Given the description of an element on the screen output the (x, y) to click on. 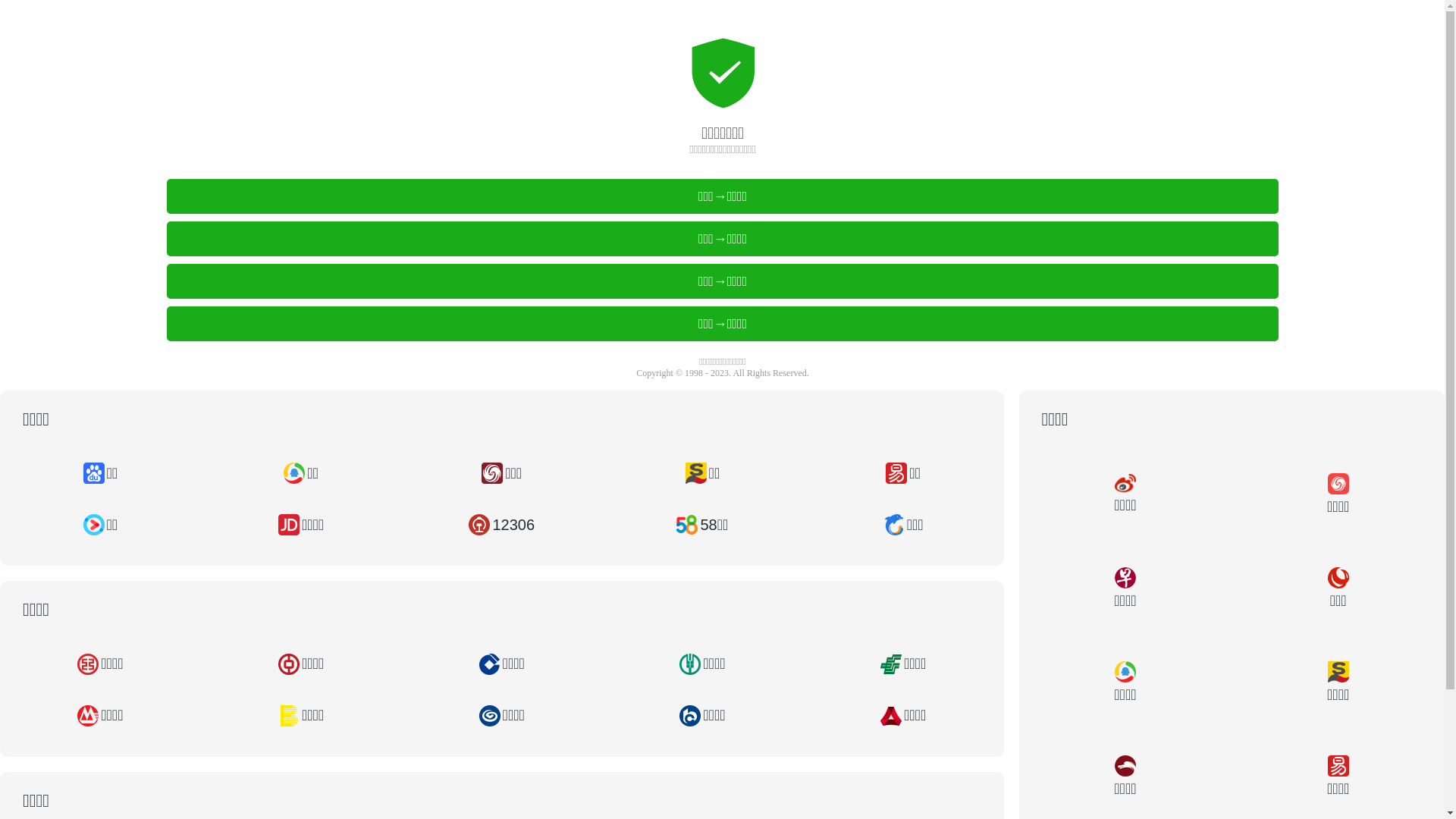
12306 Element type: text (501, 524)
